Given the description of an element on the screen output the (x, y) to click on. 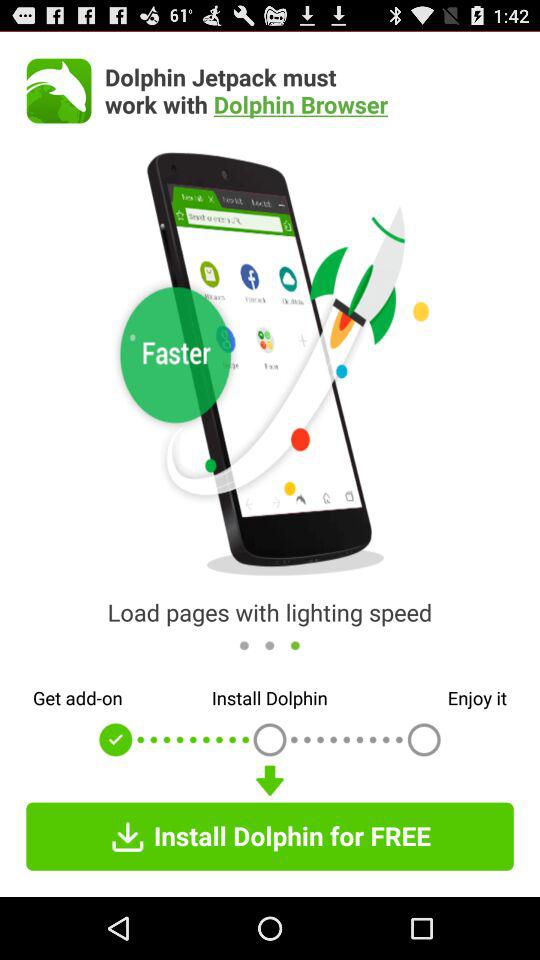
click the item at the top left corner (58, 90)
